Given the description of an element on the screen output the (x, y) to click on. 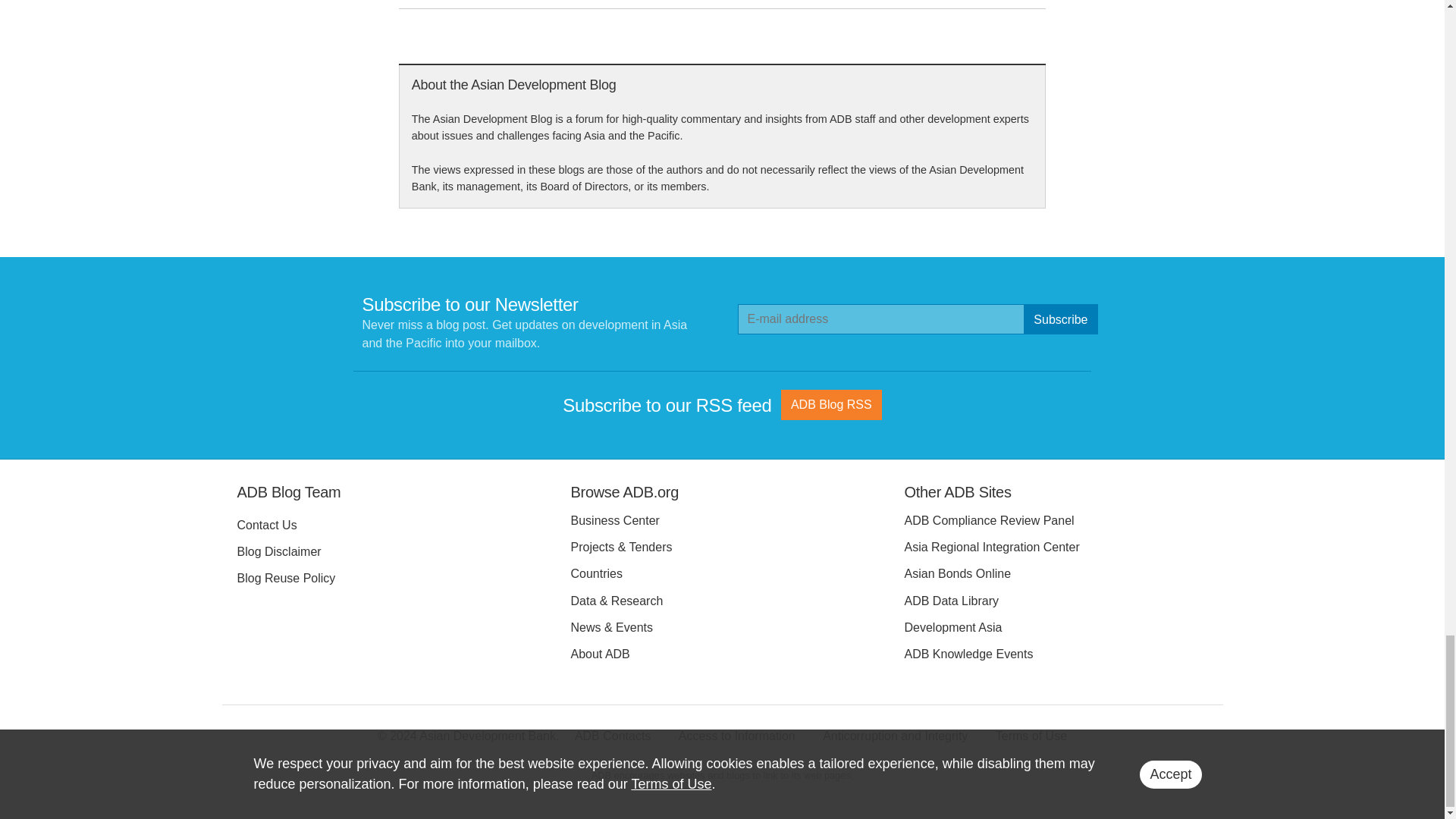
Subscribe (1060, 318)
